Given the description of an element on the screen output the (x, y) to click on. 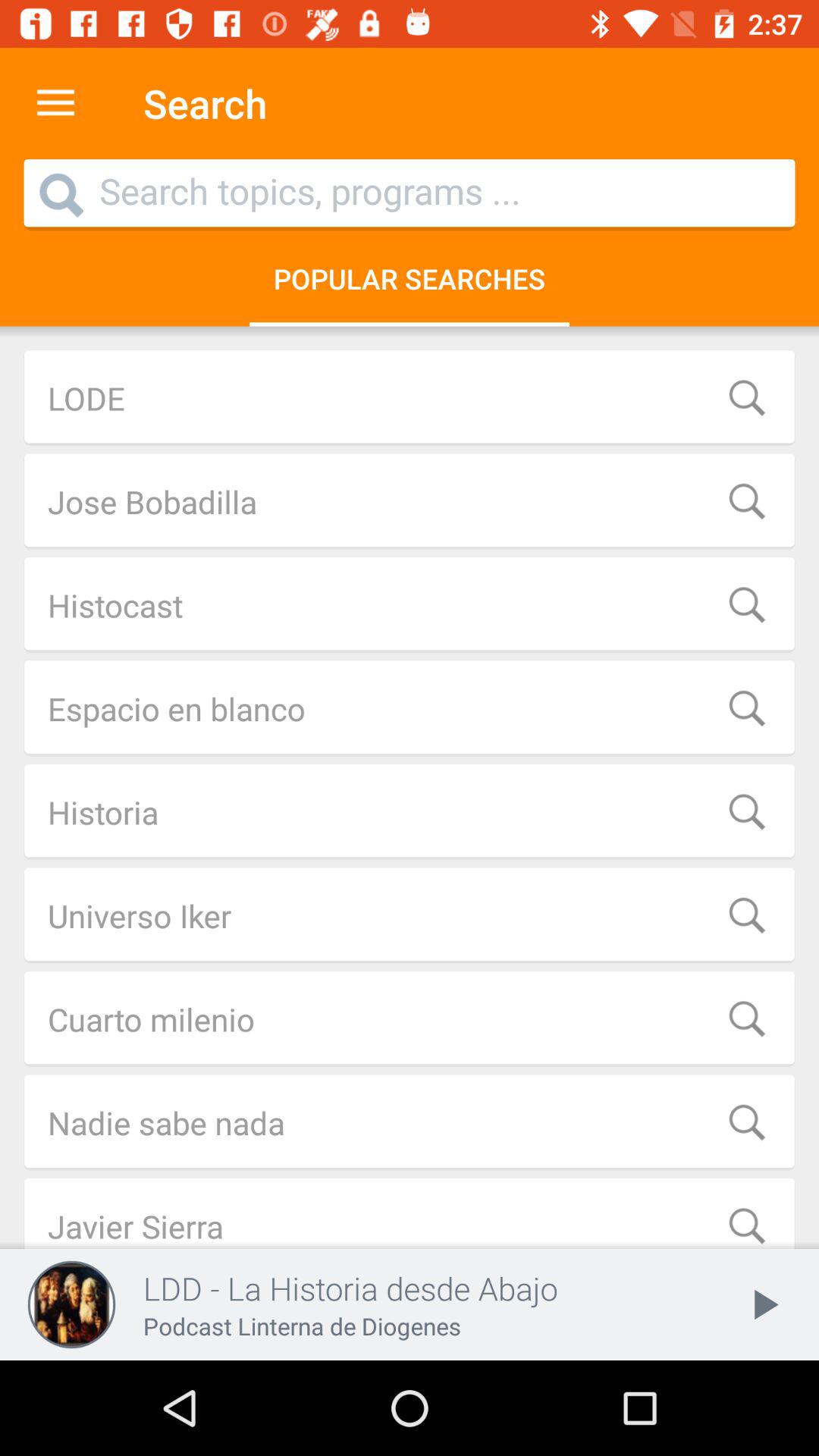
jump to the espacio en blanco item (409, 708)
